Given the description of an element on the screen output the (x, y) to click on. 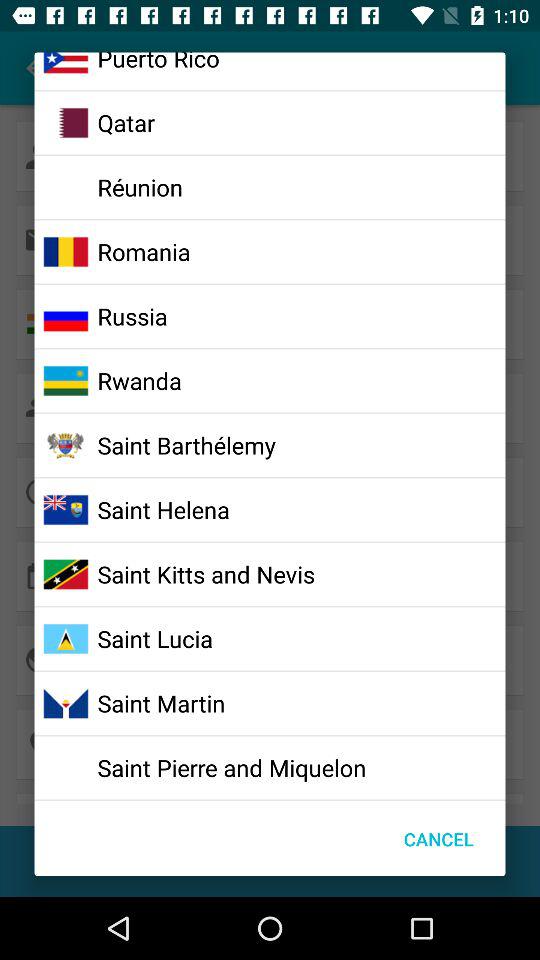
open the item below russia icon (139, 380)
